Given the description of an element on the screen output the (x, y) to click on. 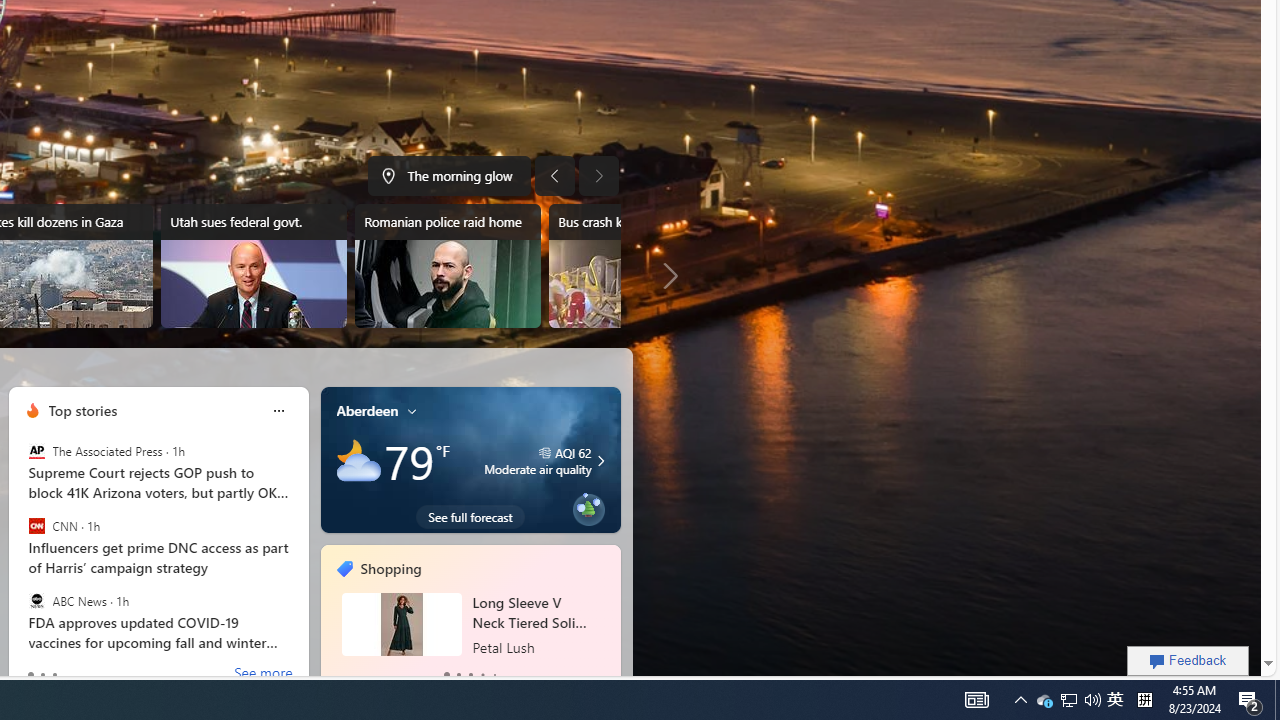
ABC News (36, 600)
Mostly cloudy (358, 461)
Class: icon-img (411, 410)
Class: weather-arrow-glyph (600, 461)
next (610, 617)
Next image (598, 175)
Bus crash kills 28 in Iran (640, 265)
The morning glow (449, 175)
Class: eplant-bubble (588, 509)
Moderate air quality (598, 460)
Utah sues federal govt. (253, 265)
Shopping (390, 569)
